Given the description of an element on the screen output the (x, y) to click on. 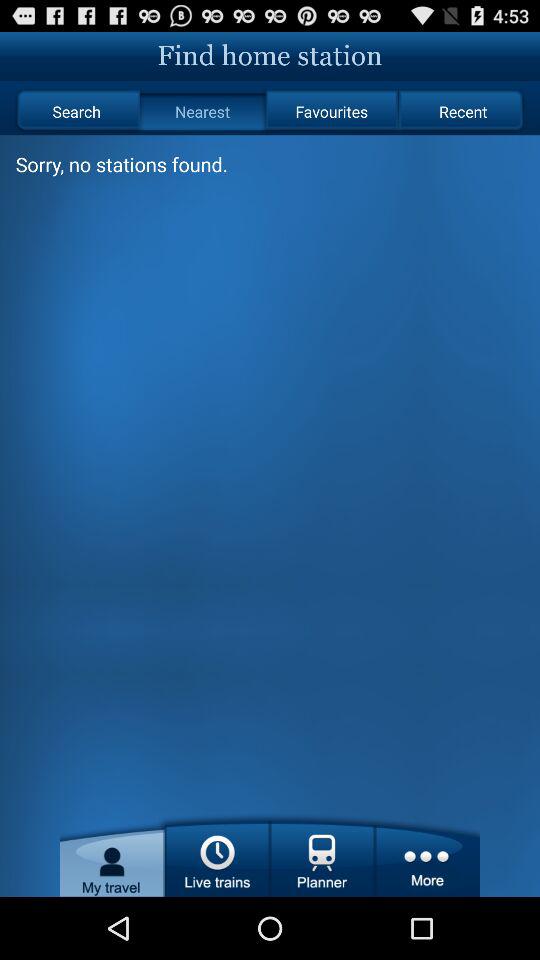
select item to the left of the nearest icon (76, 111)
